Given the description of an element on the screen output the (x, y) to click on. 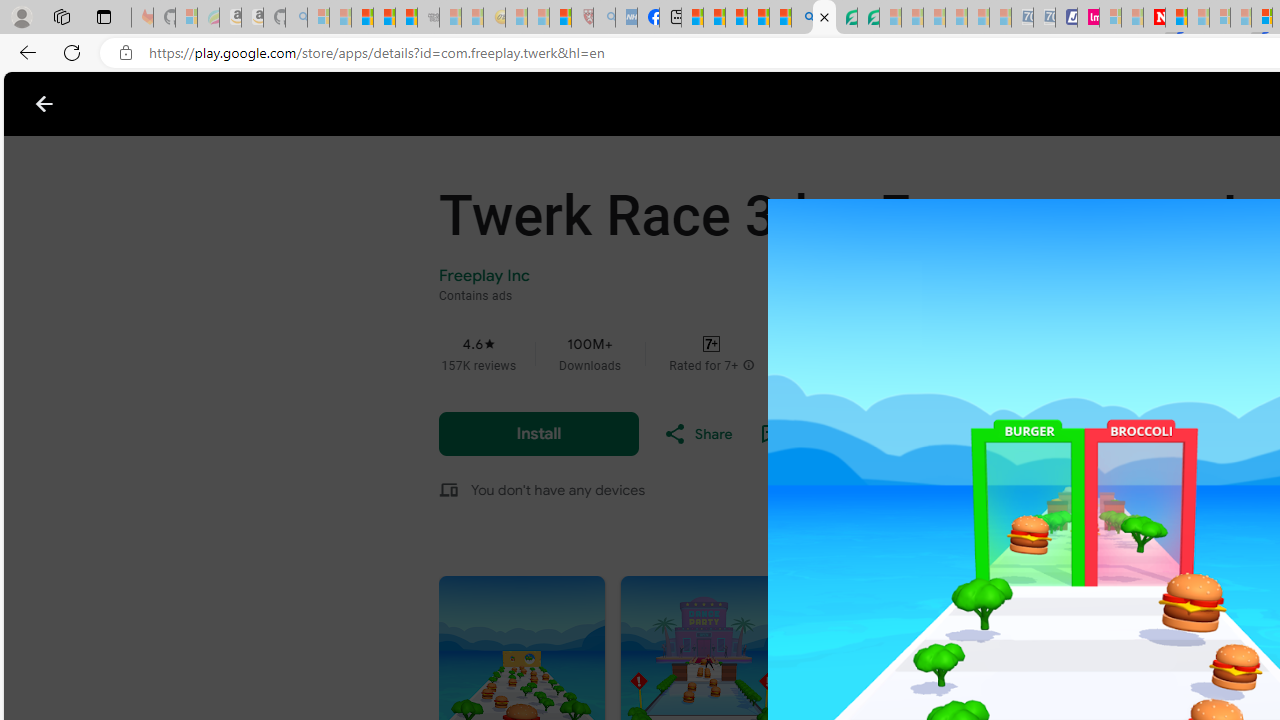
Local - MSN (560, 17)
Content rating (711, 344)
Jobs - lastminute.com Investor Portal (1088, 17)
More info about this content rating (748, 365)
New Report Confirms 2023 Was Record Hot | Watch (406, 17)
